Given the description of an element on the screen output the (x, y) to click on. 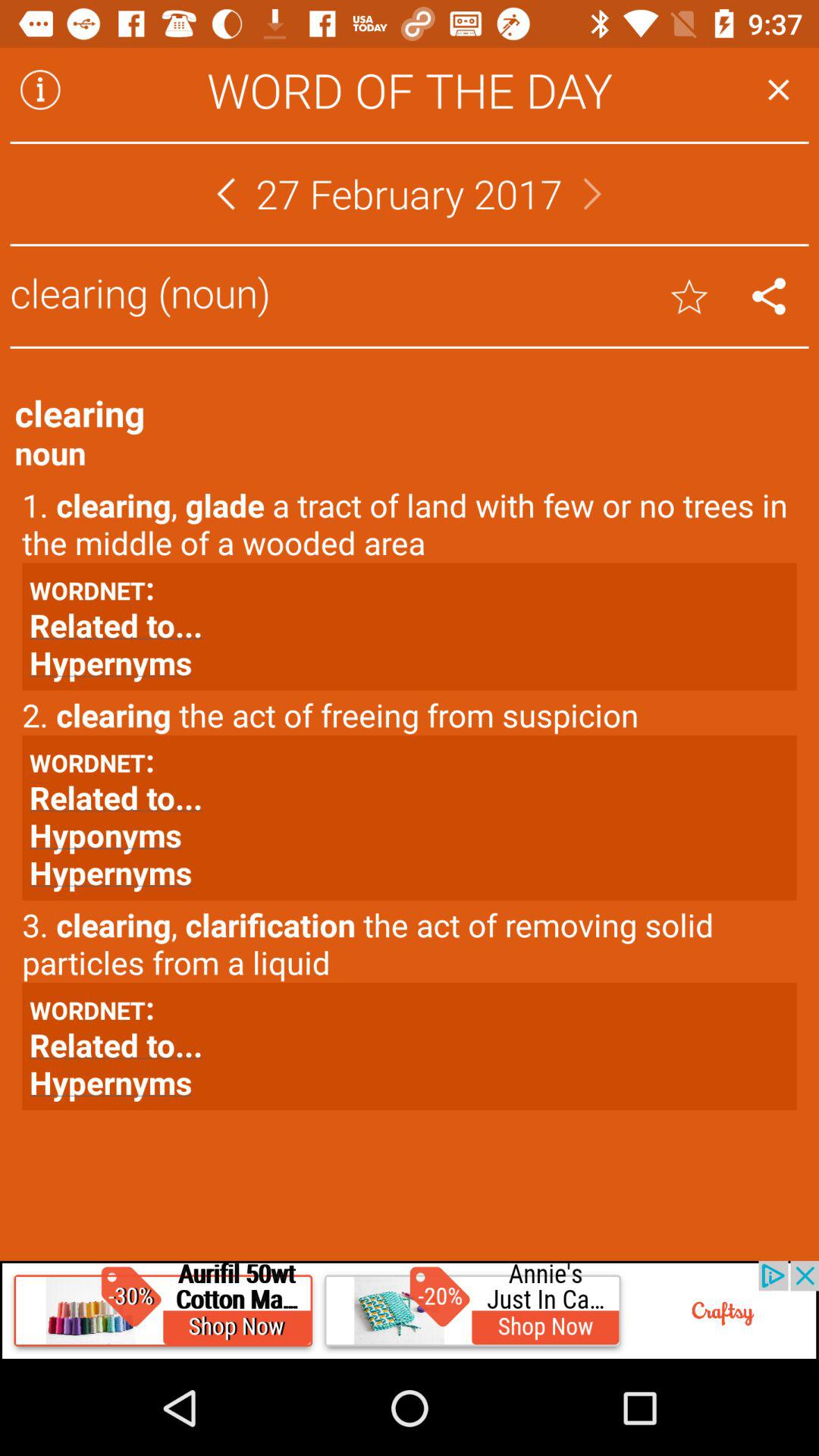
clear button (768, 296)
